Given the description of an element on the screen output the (x, y) to click on. 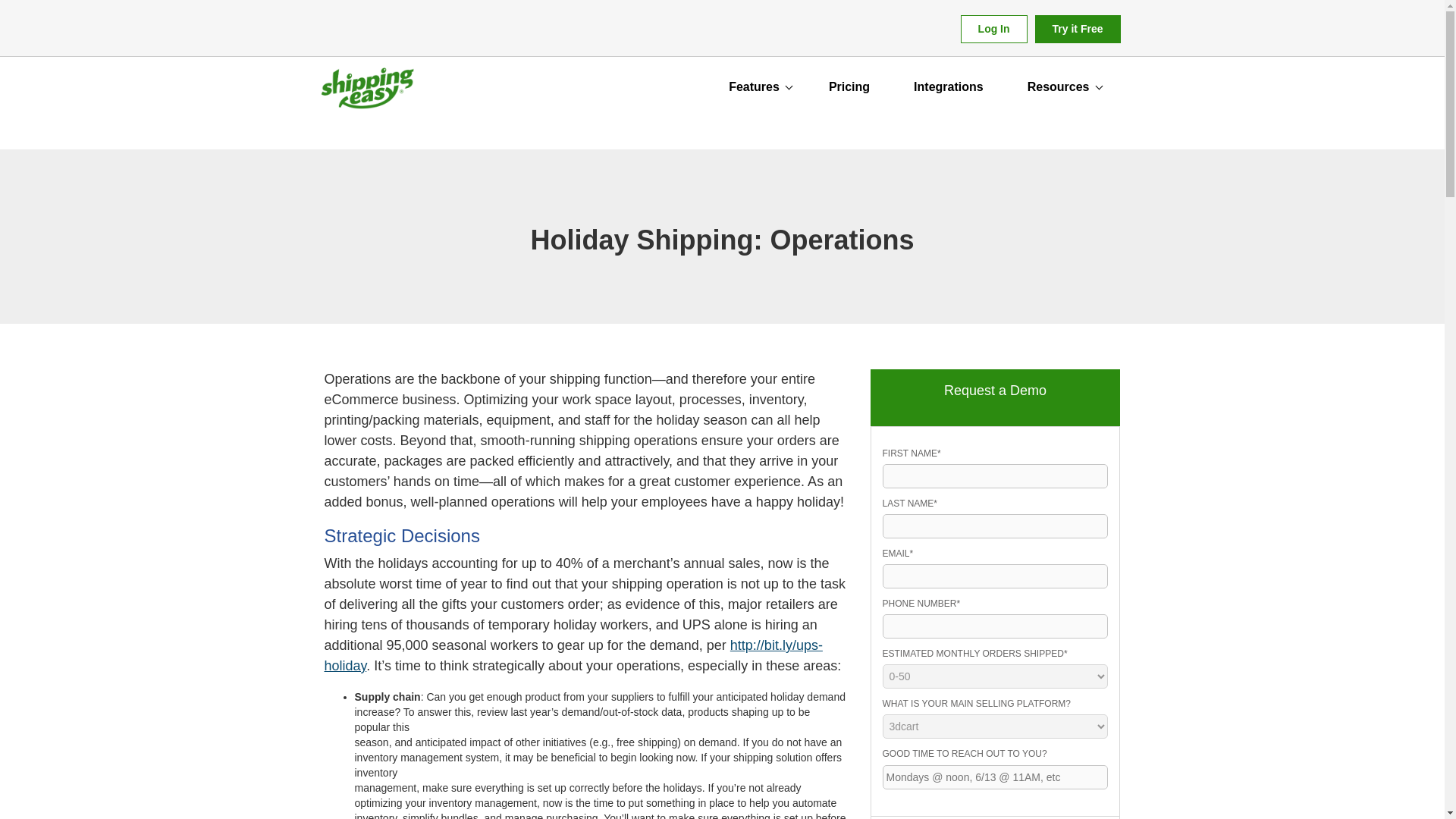
Integrations (948, 87)
Try it Free (1078, 29)
ShippingEasy (366, 93)
Resources (1061, 87)
Pricing (849, 87)
Features (756, 87)
Log In (993, 29)
